Given the description of an element on the screen output the (x, y) to click on. 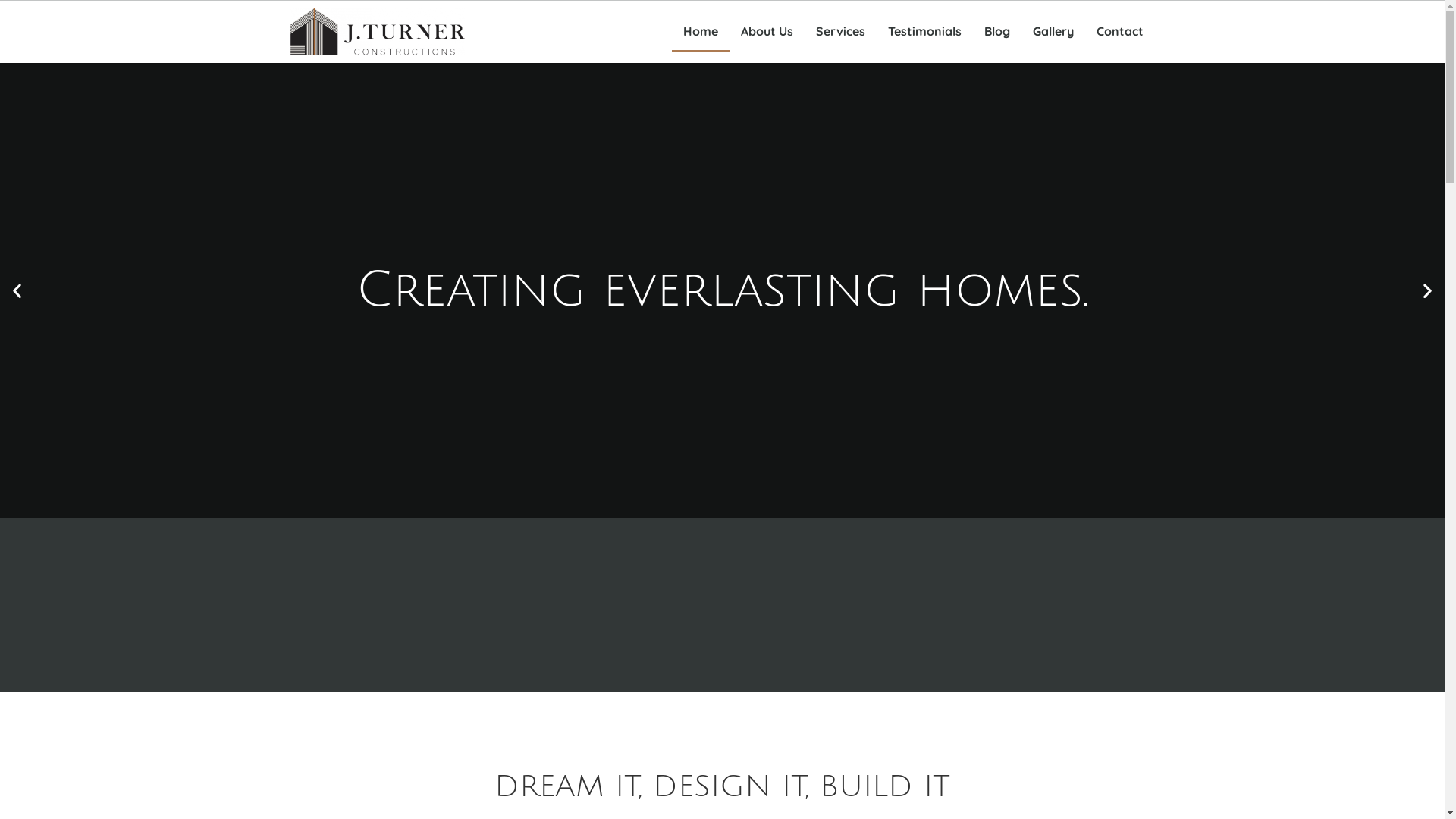
Testimonials Element type: text (924, 31)
Gallery Element type: text (1052, 31)
Services Element type: text (839, 31)
Blog Element type: text (996, 31)
Home Element type: text (700, 31)
Contact Element type: text (1119, 31)
About Us Element type: text (766, 31)
